Given the description of an element on the screen output the (x, y) to click on. 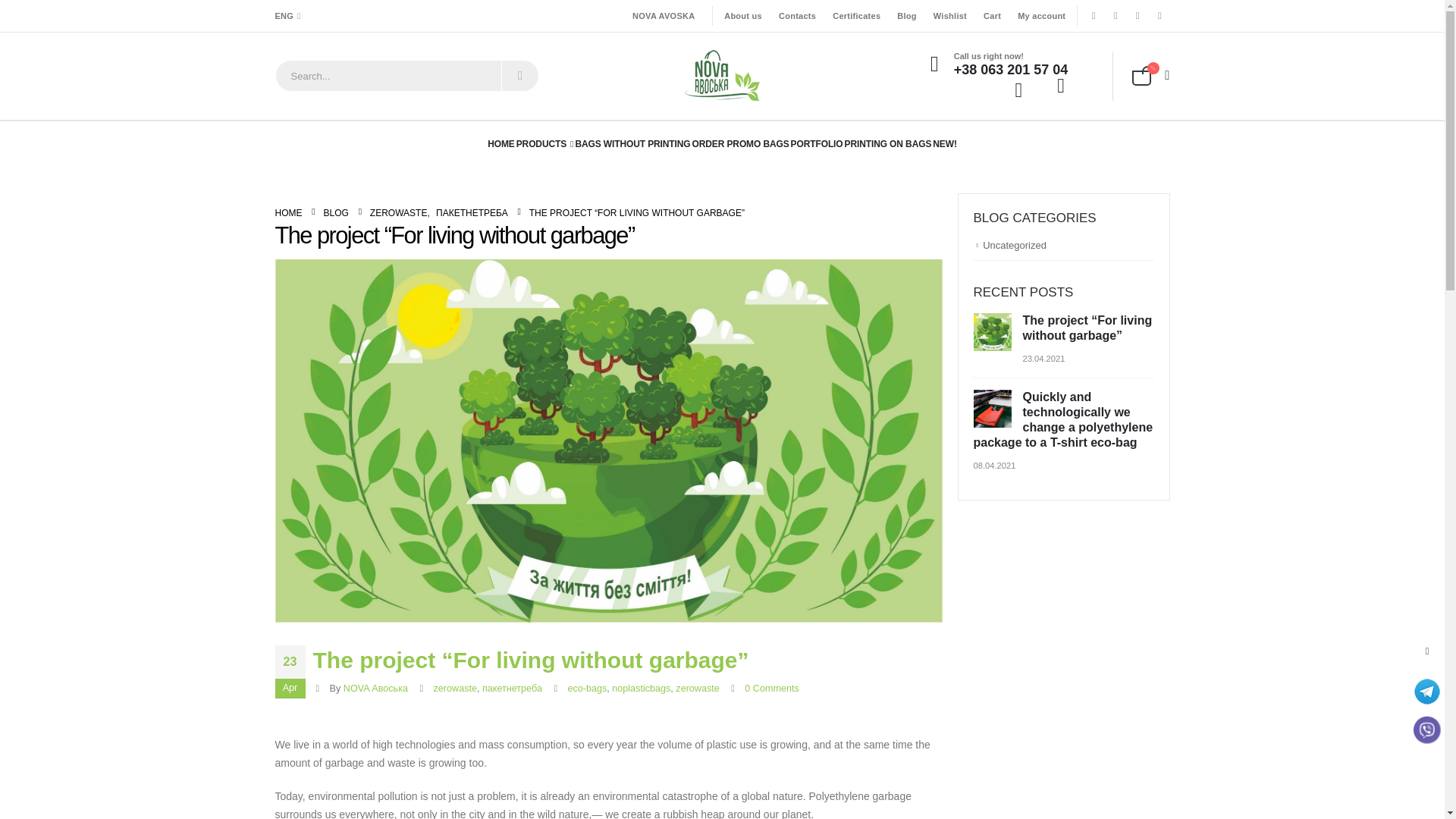
ENG (289, 15)
About us (743, 15)
Twitter (1115, 15)
0 Comments (770, 688)
PRINTING ON BAGS (887, 144)
BAGS WITHOUT PRINTING (632, 144)
Youtube (1136, 15)
PORTFOLIO (816, 144)
Wishlist (949, 15)
Certificates (856, 15)
